Given the description of an element on the screen output the (x, y) to click on. 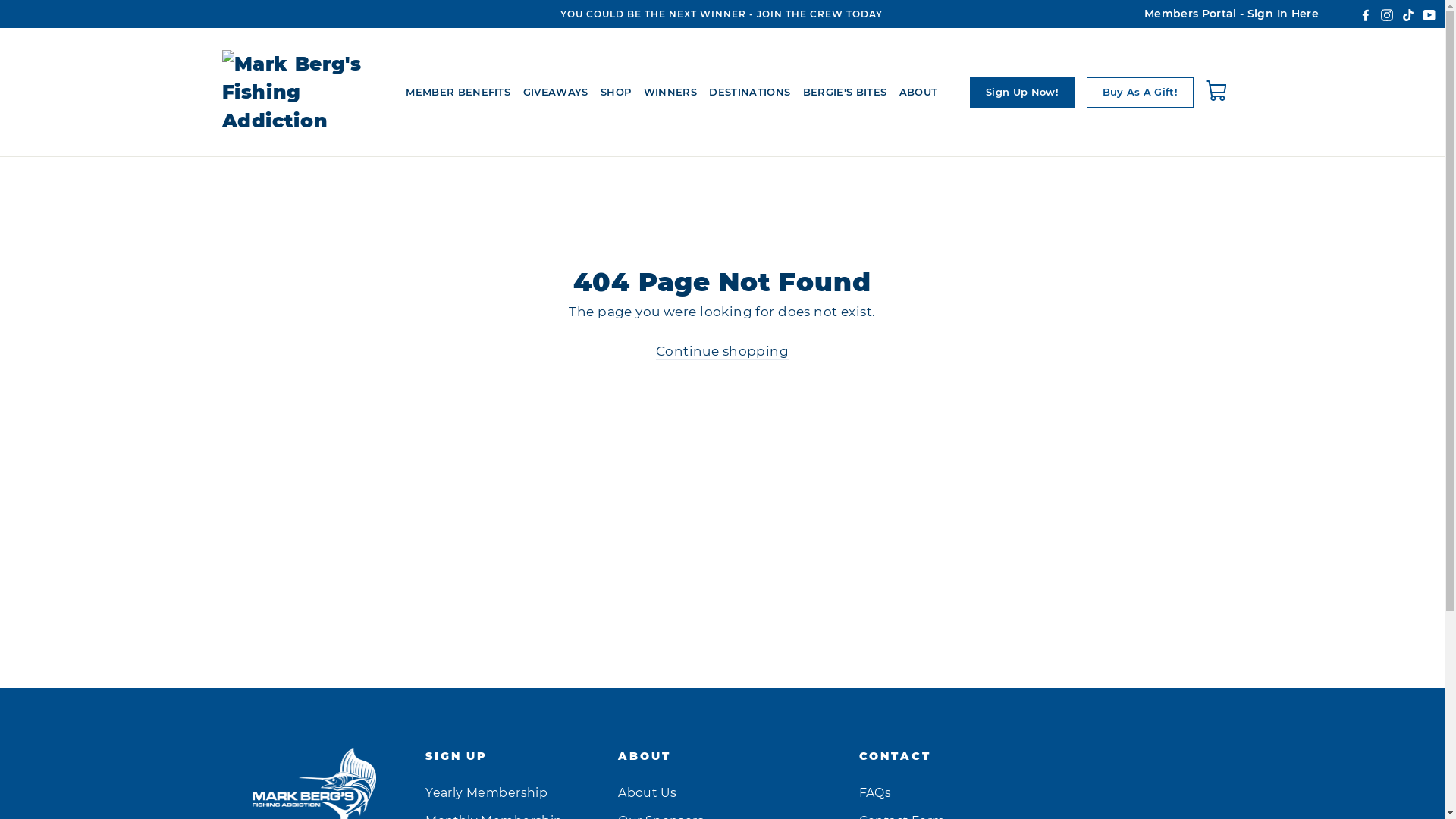
Continue shopping Element type: text (721, 351)
Cart Element type: text (1218, 92)
WINNERS Element type: text (670, 92)
BERGIE'S BITES Element type: text (844, 92)
Members Portal - Sign In Here Element type: text (1231, 13)
Facebook Element type: text (1365, 13)
Sign Up Now! Element type: text (1021, 92)
SHOP Element type: text (615, 92)
Instagram Element type: text (1386, 13)
DESTINATIONS Element type: text (749, 92)
Skip to content Element type: text (0, 0)
About Us Element type: text (727, 792)
GIVEAWAYS Element type: text (555, 92)
FAQs Element type: text (953, 792)
ABOUT Element type: text (918, 92)
Buy As A Gift! Element type: text (1139, 92)
YouTube Element type: text (1429, 13)
Yearly Membership Element type: text (510, 792)
YOU COULD BE THE NEXT WINNER - JOIN THE CREW TODAY Element type: text (721, 14)
MEMBER BENEFITS Element type: text (457, 92)
TikTok Element type: text (1408, 13)
